Given the description of an element on the screen output the (x, y) to click on. 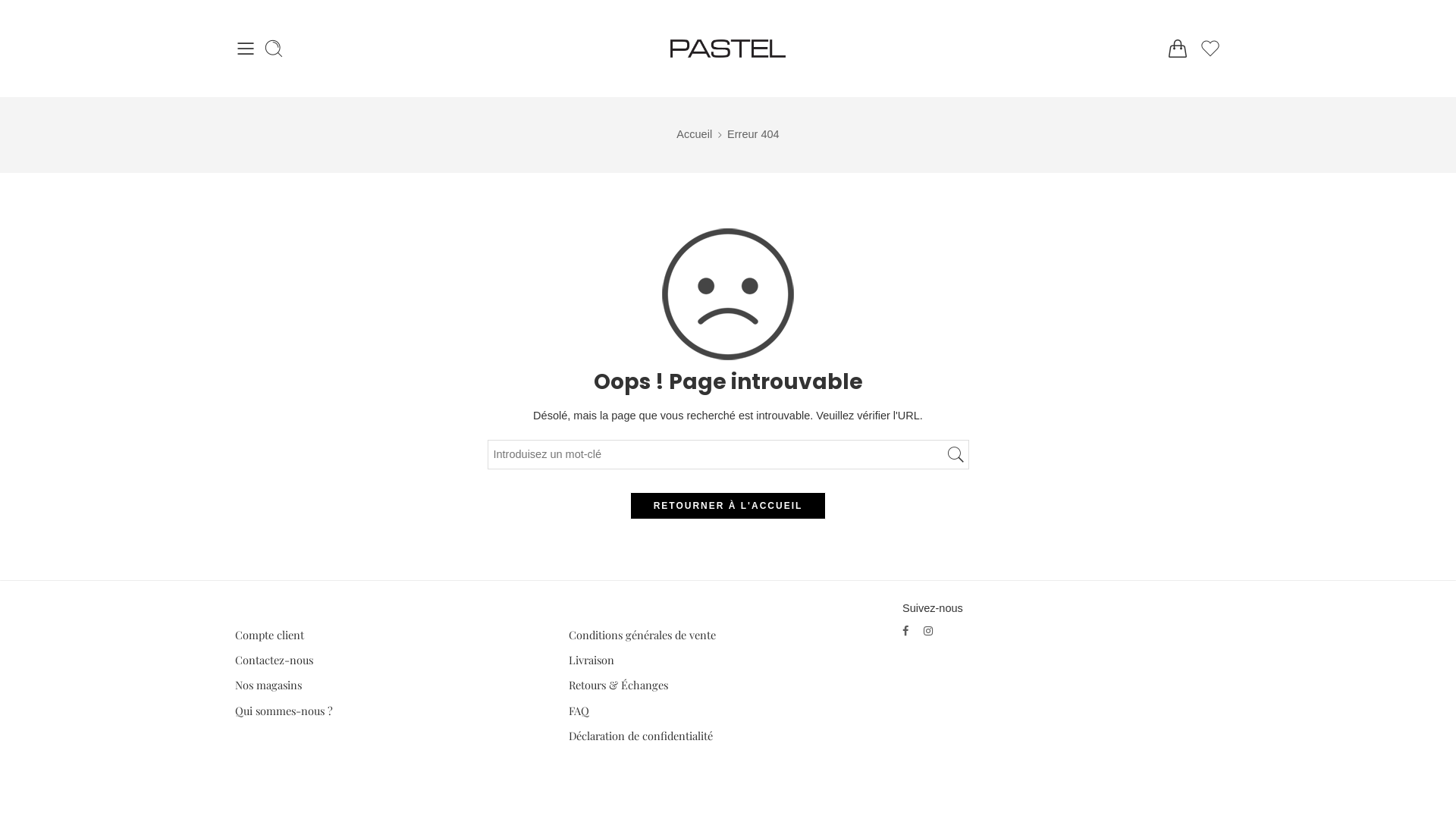
Liste de souhaits Element type: hover (1209, 48)
Contactez-nous Element type: text (394, 659)
Livraison Element type: text (727, 659)
Follow us on Facebook Element type: hover (905, 631)
Accueil Element type: text (694, 134)
Search Element type: hover (273, 48)
Qui sommes-nous ? Element type: text (394, 709)
Nos magasins Element type: text (394, 684)
Follow us on Instagram Element type: hover (927, 631)
Panier Element type: hover (1177, 48)
FAQ Element type: text (727, 709)
Compte client Element type: text (394, 634)
